Given the description of an element on the screen output the (x, y) to click on. 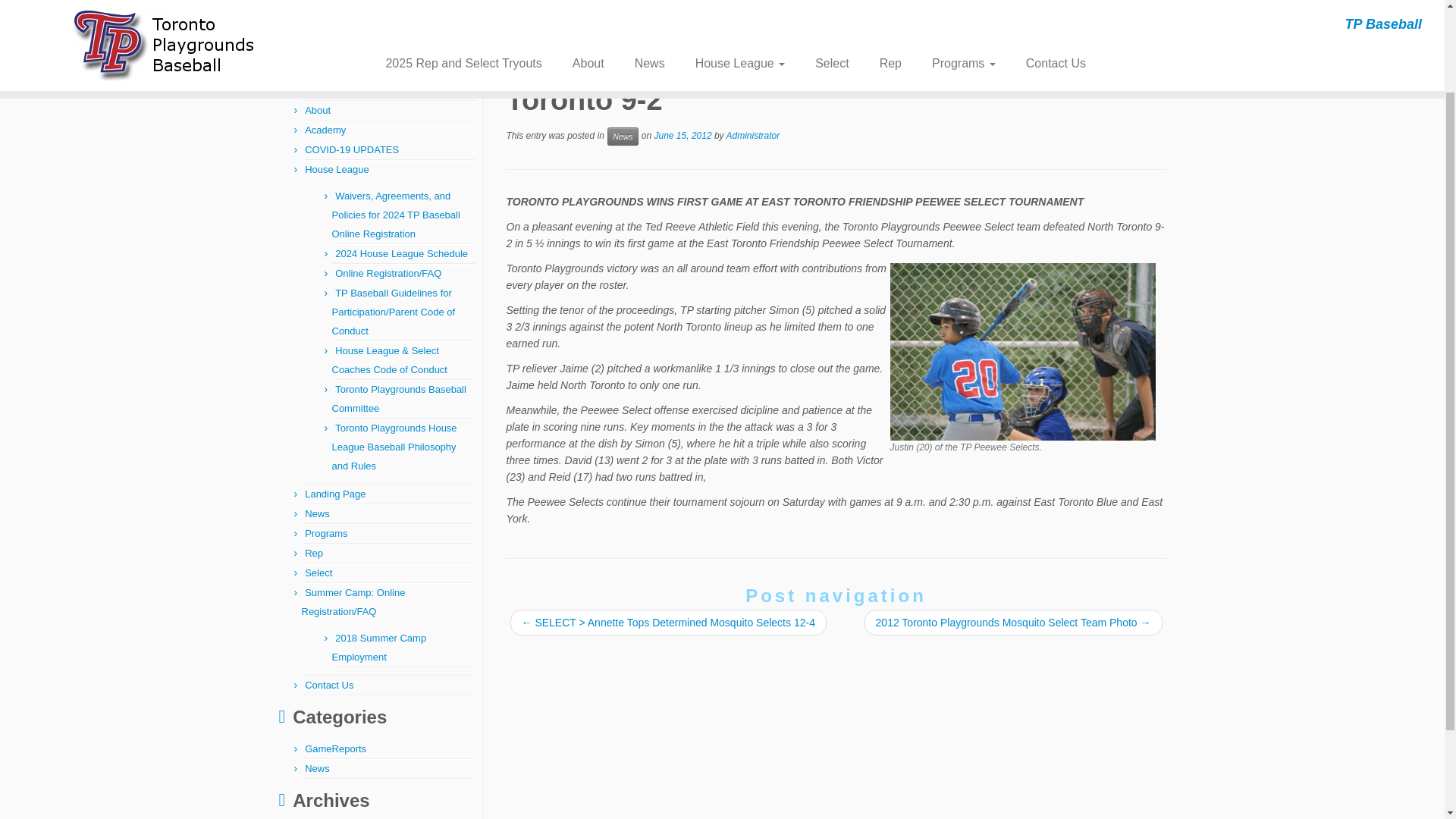
News (331, 21)
SONY DSC (1022, 351)
2024 House League Schedule (400, 253)
Rep (313, 552)
Landing Page (334, 493)
Select (317, 572)
2018 Summer Camp Employment (378, 647)
House League (336, 169)
Academy (325, 129)
Programs (325, 532)
2025 Rep and Select Tryouts (368, 90)
News (370, 21)
11:33 PM (682, 135)
Toronto Playgrounds Baseball Association (293, 21)
News (370, 21)
